Given the description of an element on the screen output the (x, y) to click on. 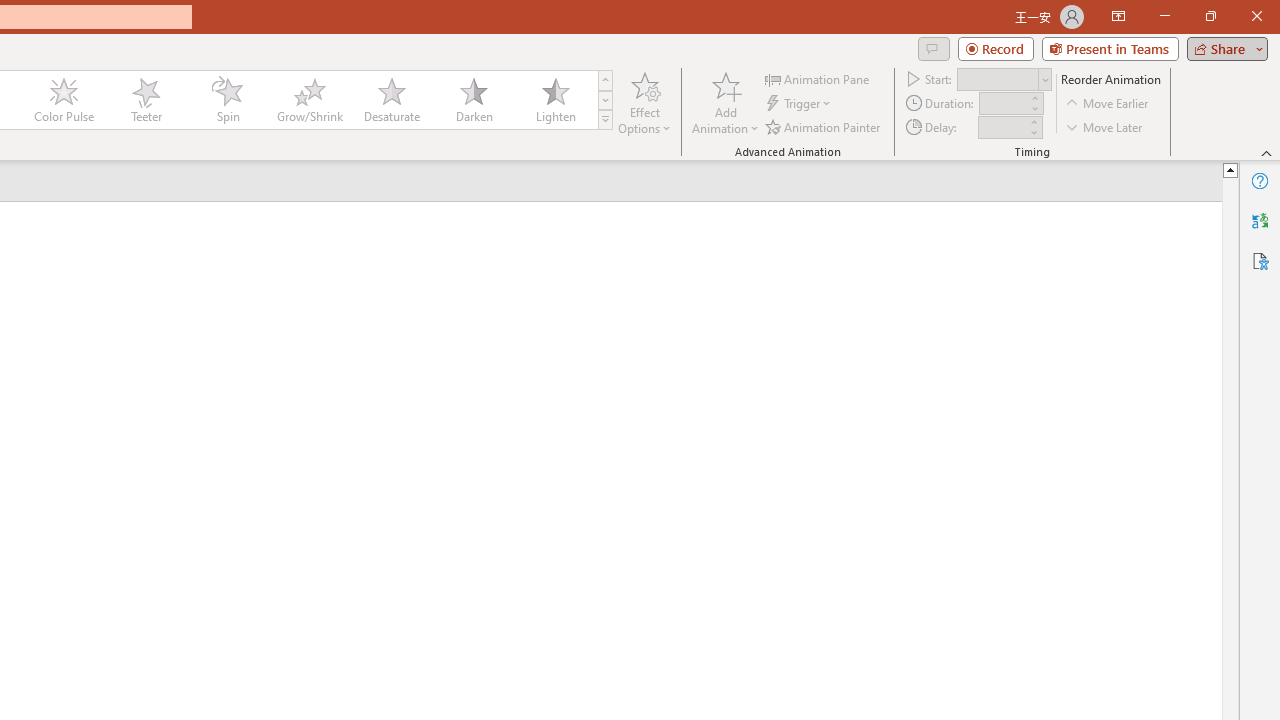
Animation Painter (824, 126)
Darken (473, 100)
Grow/Shrink (309, 100)
Spin (227, 100)
Desaturate (391, 100)
Lighten (555, 100)
Animation Delay (1002, 127)
Color Pulse (63, 100)
